Given the description of an element on the screen output the (x, y) to click on. 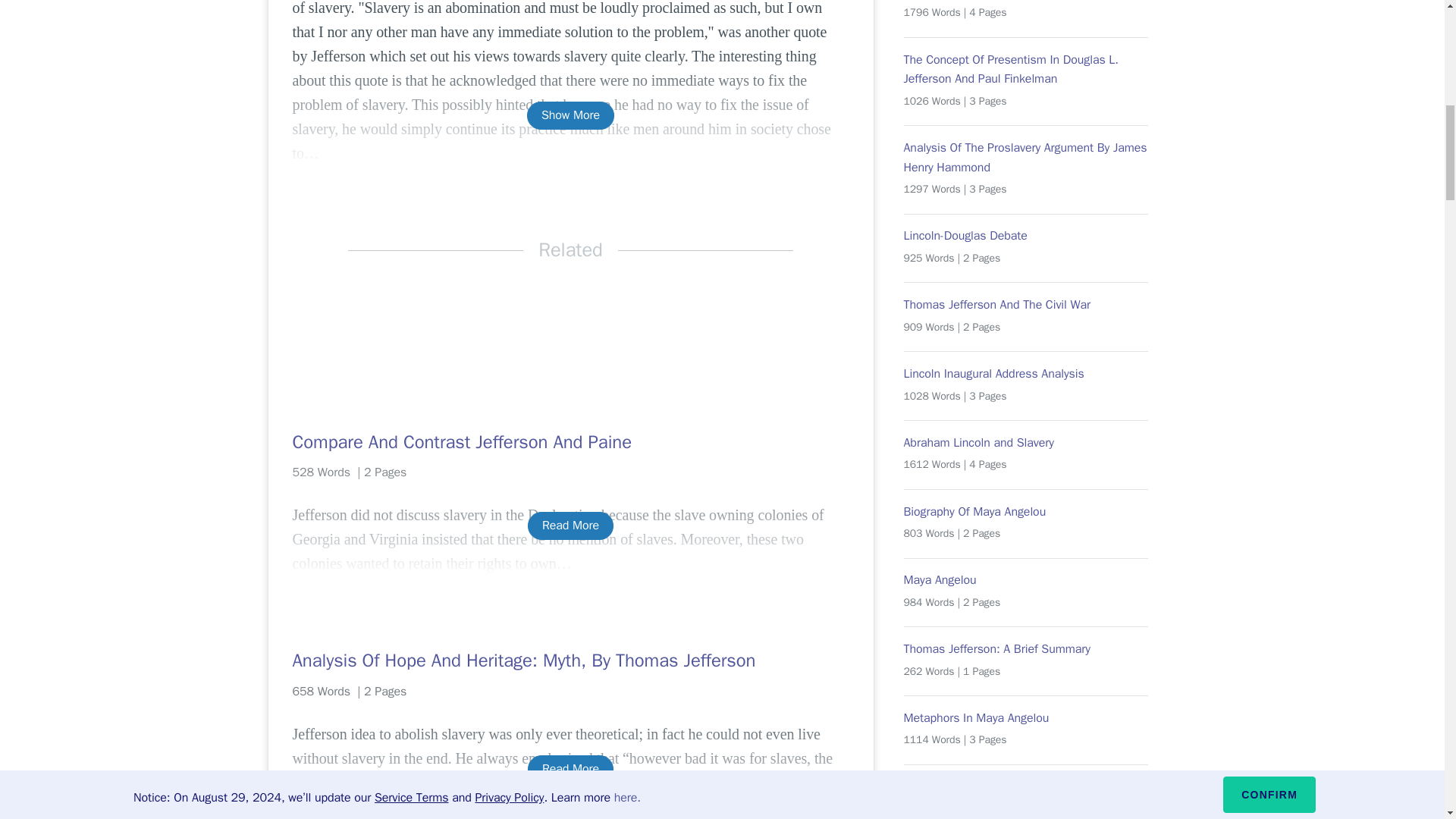
Analysis Of Hope And Heritage: Myth, By Thomas Jefferson (570, 660)
Compare And Contrast Jefferson And Paine (570, 441)
Show More (570, 115)
Read More (569, 768)
Read More (569, 525)
